Given the description of an element on the screen output the (x, y) to click on. 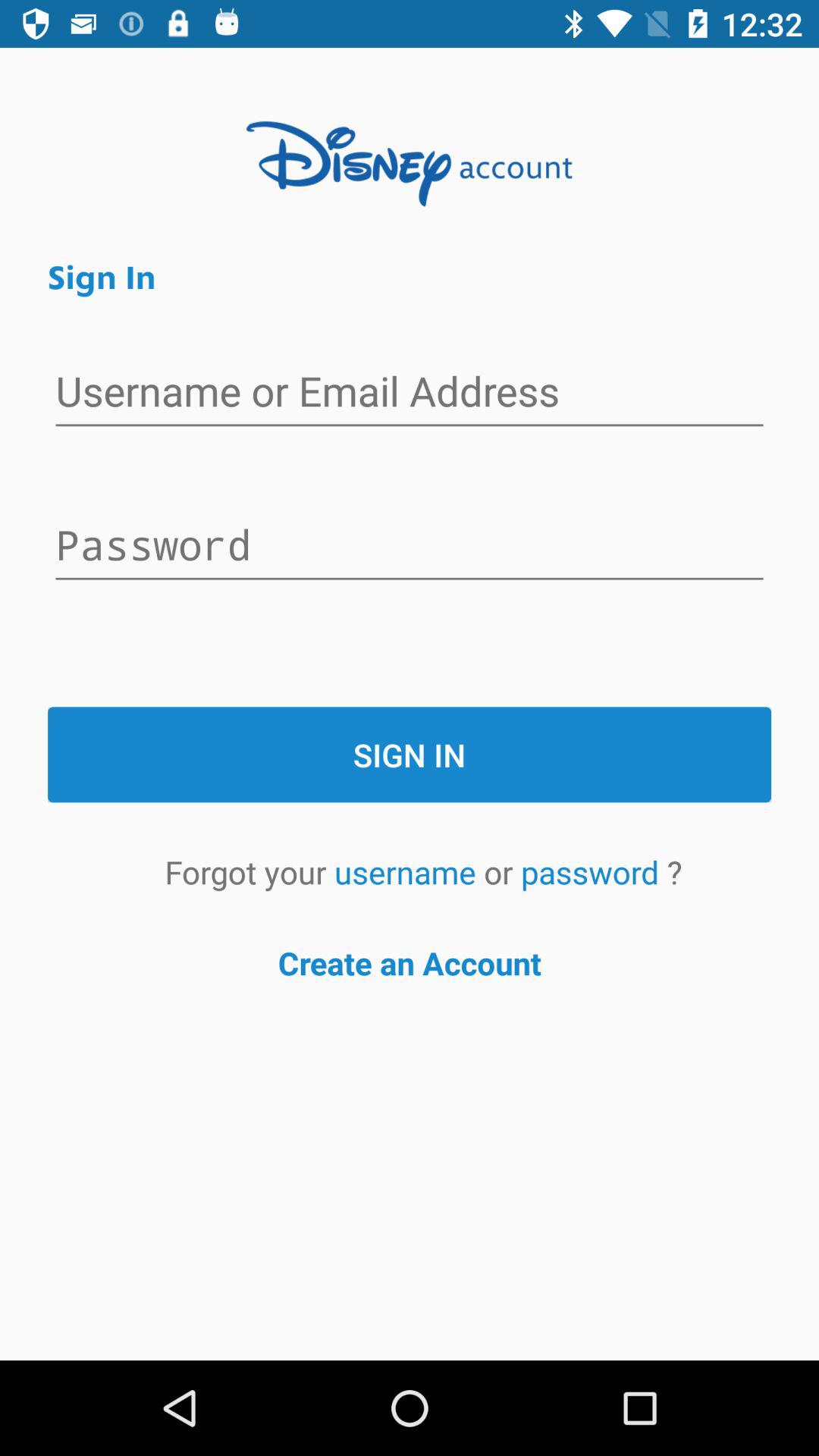
open the item next to the or item (409, 871)
